Given the description of an element on the screen output the (x, y) to click on. 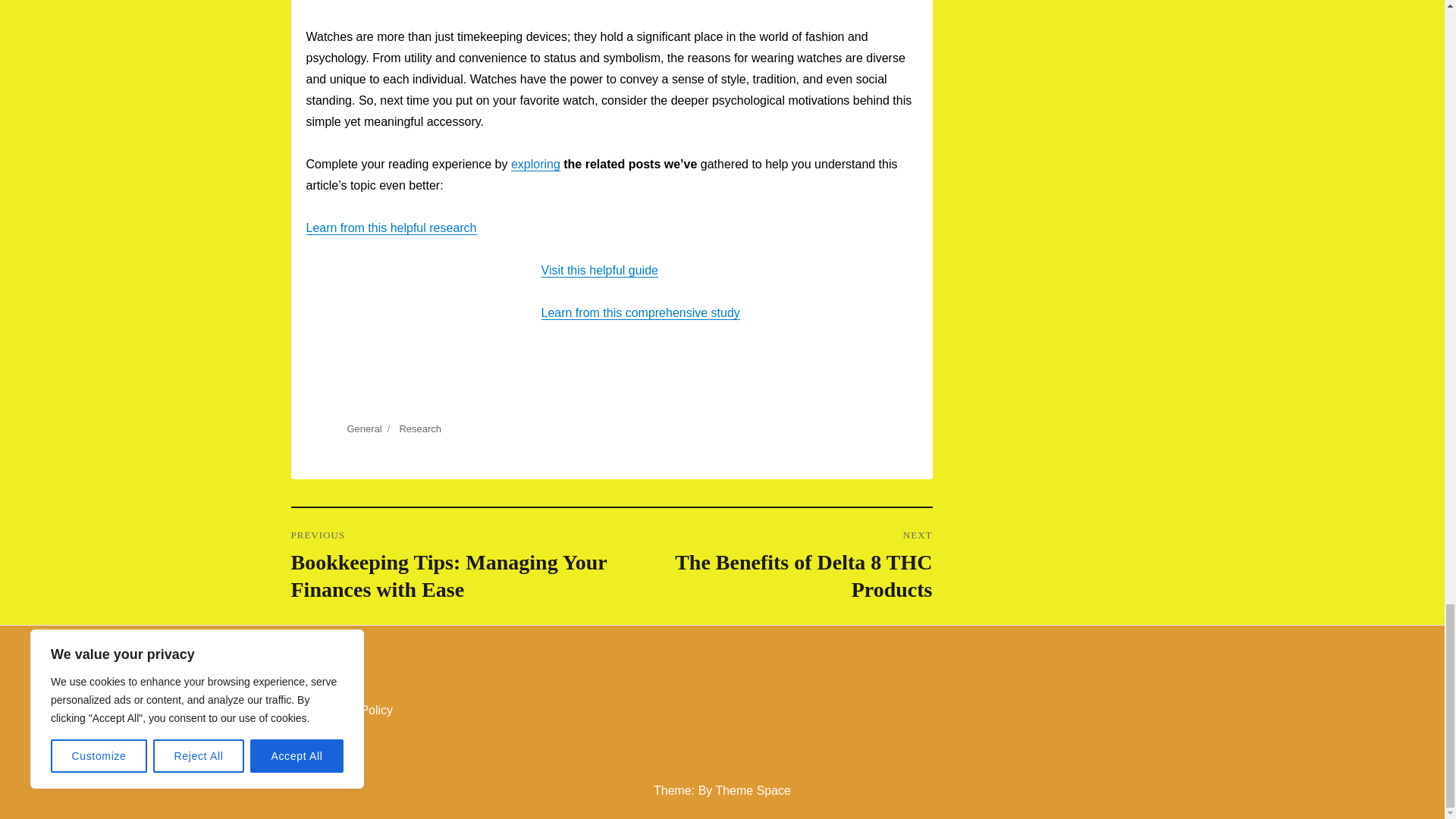
General (364, 428)
Visit this helpful guide (599, 269)
Learn from this helpful research (391, 227)
exploring (535, 164)
Learn from this comprehensive study (640, 312)
Research (771, 565)
